Given the description of an element on the screen output the (x, y) to click on. 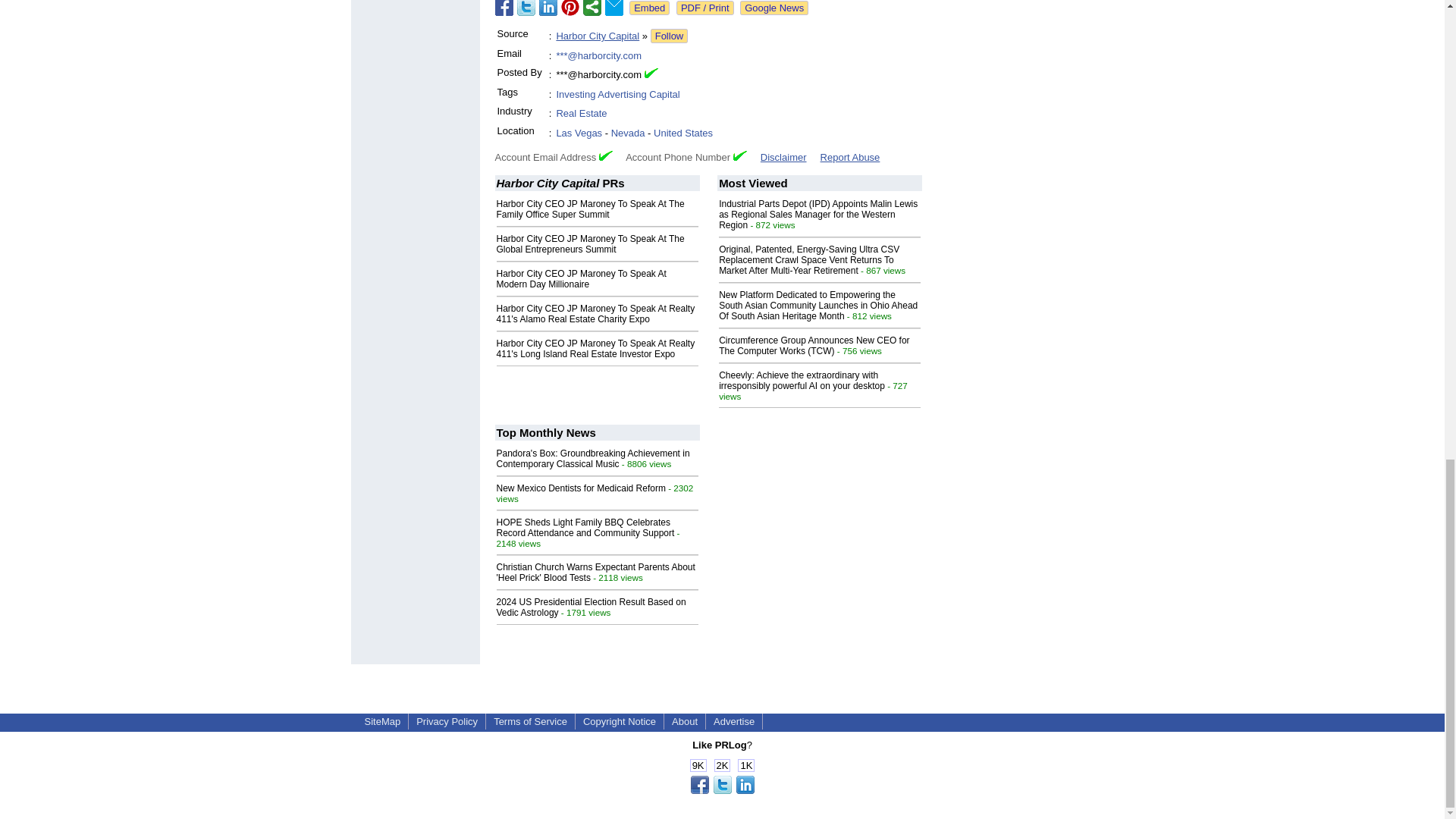
Verified (739, 155)
Email Verified (651, 72)
Share on Facebook (503, 7)
Share on Twitter (525, 7)
Embed this press release in your website! (648, 7)
Share on Pinterest (569, 7)
Embed (648, 7)
Share this page! (722, 790)
See or print the PDF version! (705, 7)
Email to a Friend (614, 7)
Verified (605, 155)
Share on LinkedIn (547, 7)
Share on StumbleUpon, Digg, etc (590, 7)
